Given the description of an element on the screen output the (x, y) to click on. 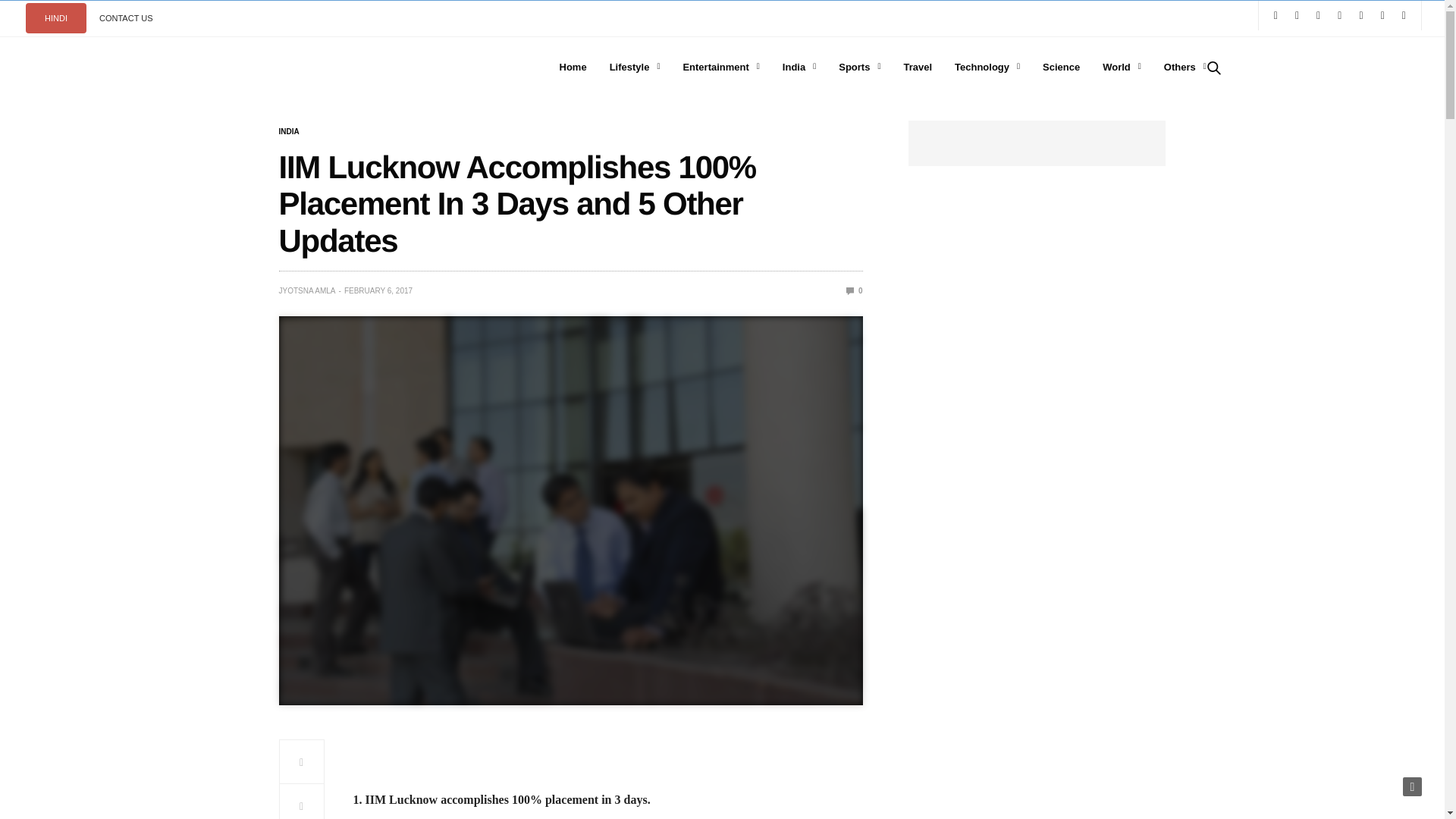
Entertainment (720, 67)
India (289, 131)
India (799, 67)
HINDI (55, 18)
Posts by Jyotsna Amla (307, 291)
Lifestyle (635, 67)
Home (572, 67)
Sports (859, 67)
CONTACT US (125, 18)
